Given the description of an element on the screen output the (x, y) to click on. 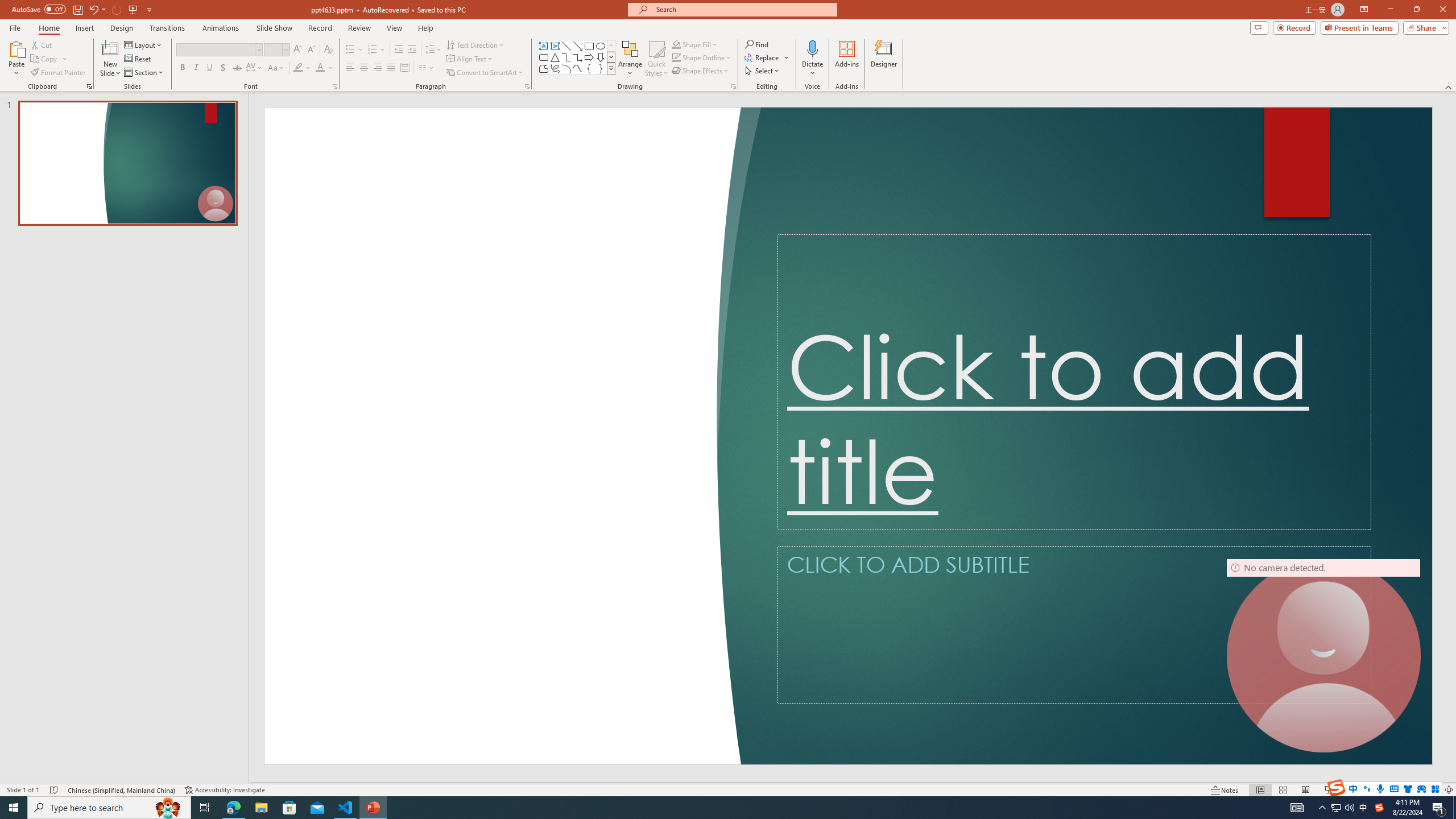
Center (363, 67)
Find... (756, 44)
Format Painter (58, 72)
Text Direction (476, 44)
Arrow: Down (600, 57)
Text Box (543, 45)
Connector: Elbow (566, 57)
Underline (209, 67)
